Given the description of an element on the screen output the (x, y) to click on. 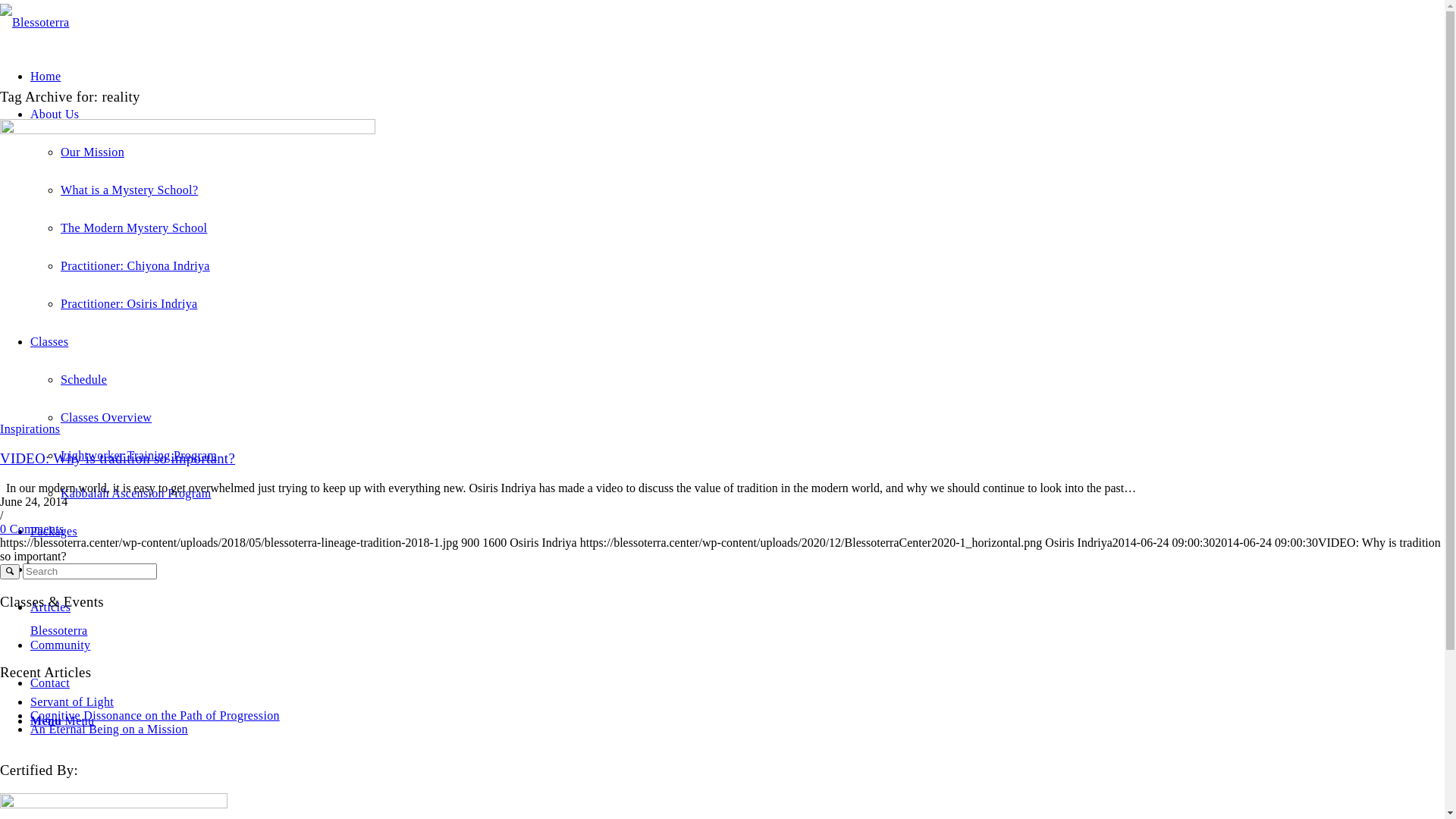
Packages Element type: text (53, 530)
What is a Mystery School? Element type: text (128, 189)
Home Element type: text (45, 75)
Schedule Element type: text (83, 379)
0 Comments Element type: text (32, 528)
The Modern Mystery School Element type: text (133, 227)
Contact Element type: text (49, 682)
VIDEO: Why is tradition so important? Element type: text (117, 458)
About Us Element type: text (54, 113)
Classes Element type: text (49, 341)
Lightworker Training Program Element type: text (138, 454)
Servant of Light Element type: text (71, 701)
Inspirations Element type: text (29, 428)
Blessoterra Element type: text (58, 630)
VIDEO: Why is tradition so important? Element type: hover (187, 129)
Community Element type: text (60, 644)
Appointments Element type: text (66, 568)
Articles Element type: text (50, 606)
Our Mission Element type: text (92, 151)
An Eternal Being on a Mission Element type: text (109, 728)
Classes Overview Element type: text (105, 417)
Practitioner: Osiris Indriya Element type: text (128, 303)
BlessoterraCenter2020-1_horizontal Element type: hover (34, 21)
BlessoterraCenter2020-1_horizontal Element type: hover (34, 22)
Cognitive Dissonance on the Path of Progression Element type: text (154, 715)
Kabbalah Ascension Program Element type: text (135, 492)
Menu Menu Element type: text (62, 720)
Practitioner: Chiyona Indriya Element type: text (135, 265)
